Given the description of an element on the screen output the (x, y) to click on. 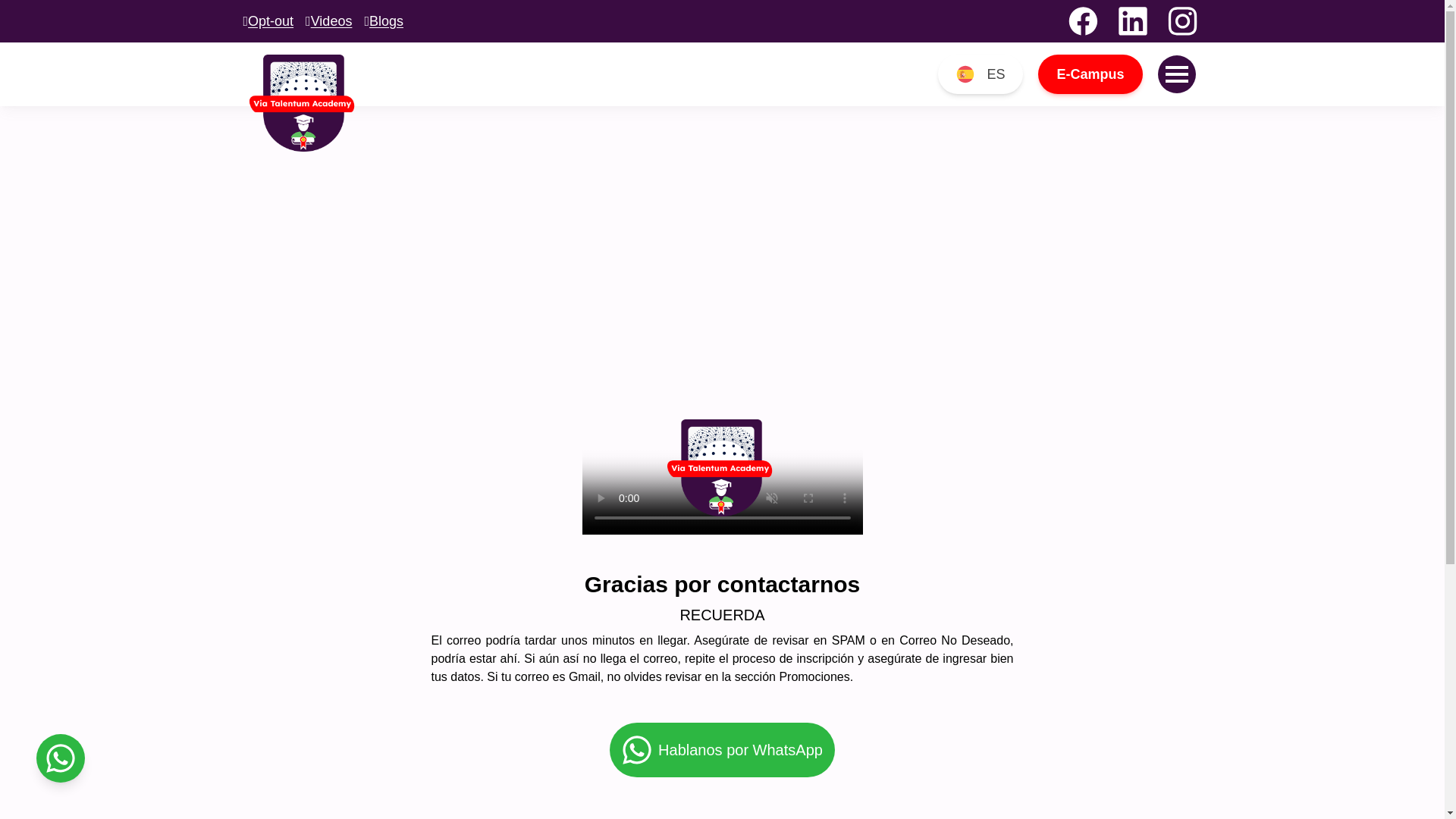
E-Campus (1089, 74)
ES (980, 74)
Hablanos por WhatsApp (722, 749)
